Given the description of an element on the screen output the (x, y) to click on. 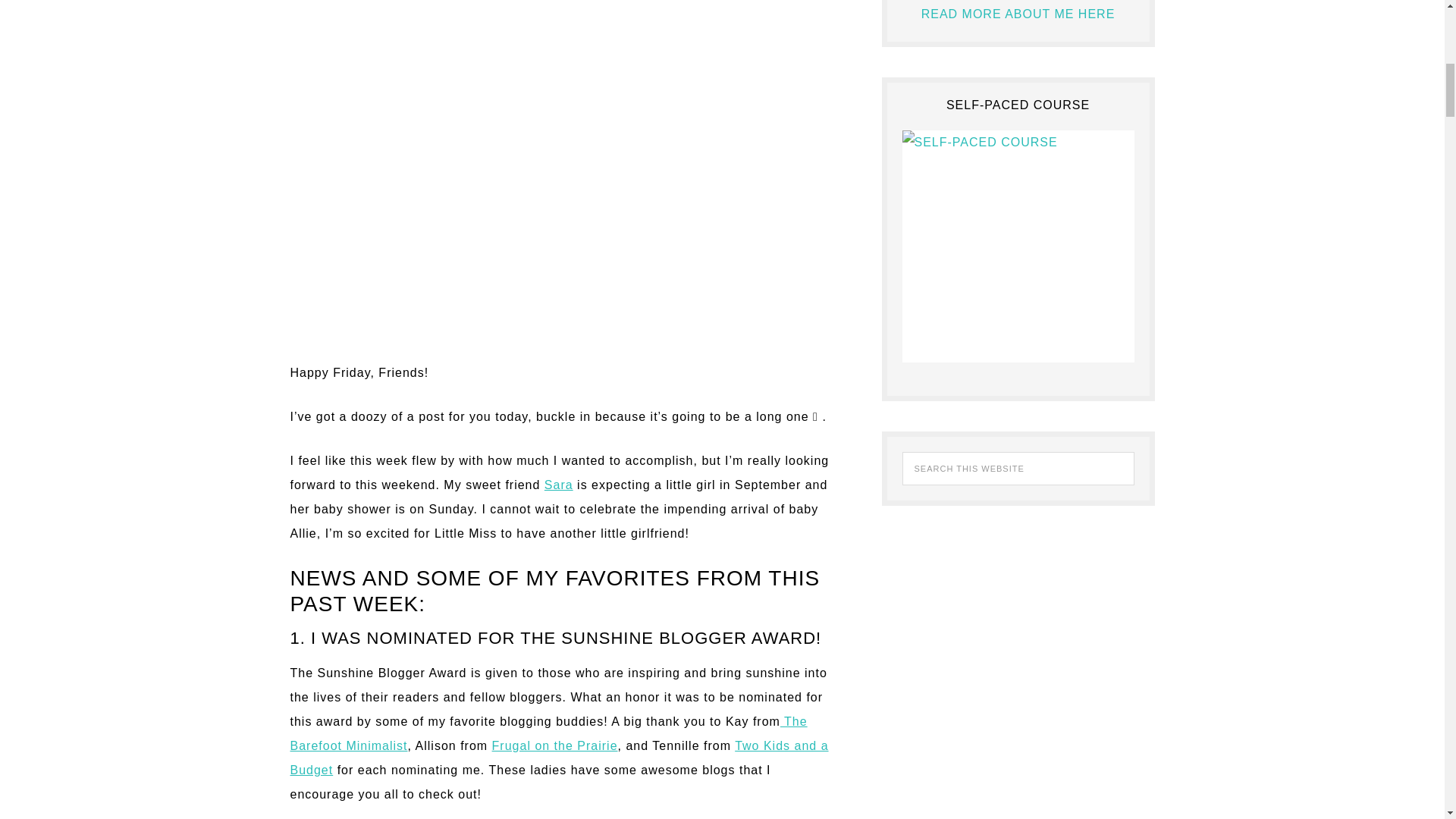
Frugal on the Prairie (554, 745)
The Barefoot Minimalist (547, 733)
Two Kids and a Budget (558, 757)
SELF-PACED COURSE (1018, 246)
Sara (558, 484)
